Given the description of an element on the screen output the (x, y) to click on. 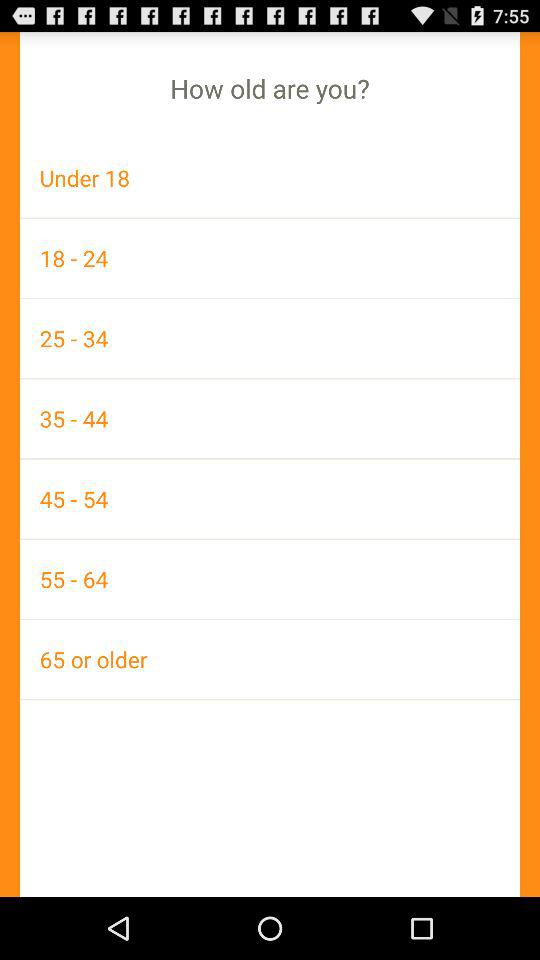
scroll to 45 - 54 (269, 498)
